Given the description of an element on the screen output the (x, y) to click on. 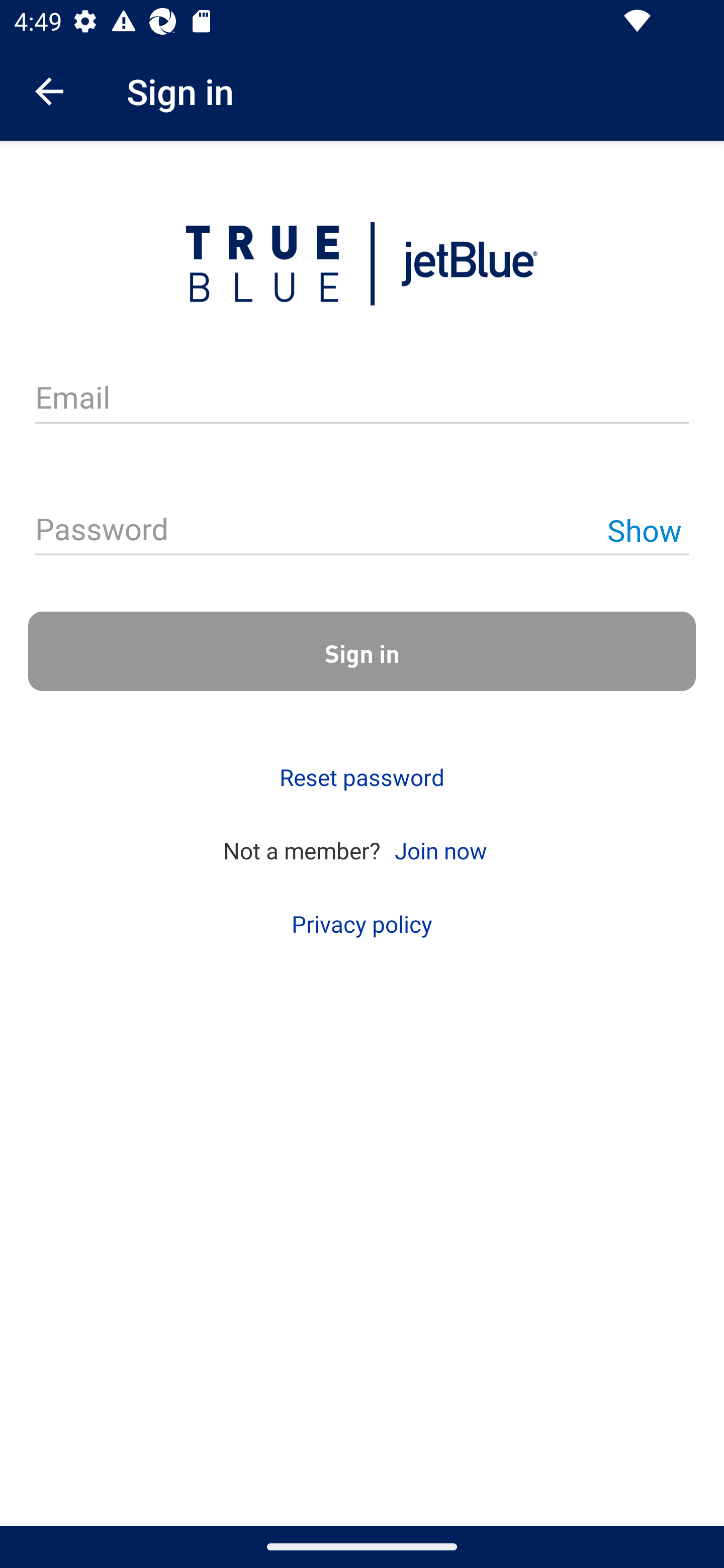
Navigate up (49, 91)
Email (361, 398)
Password (361, 530)
Show (643, 529)
Sign in (361, 651)
Reset password (361, 776)
Join now (440, 849)
Privacy policy (361, 923)
